Given the description of an element on the screen output the (x, y) to click on. 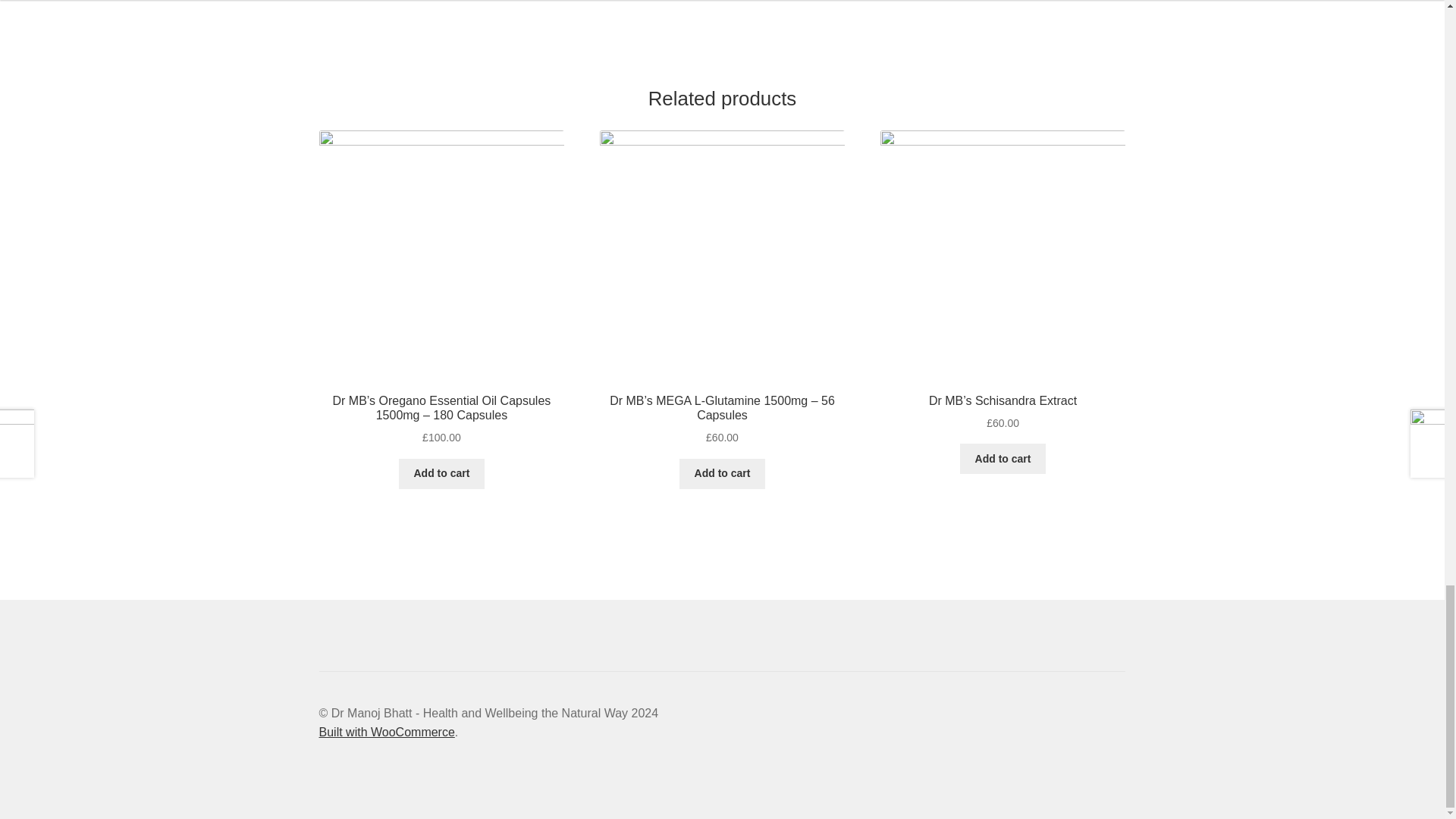
WooCommerce - The Best eCommerce Platform for WordPress (386, 731)
Add to cart (441, 473)
